Given the description of an element on the screen output the (x, y) to click on. 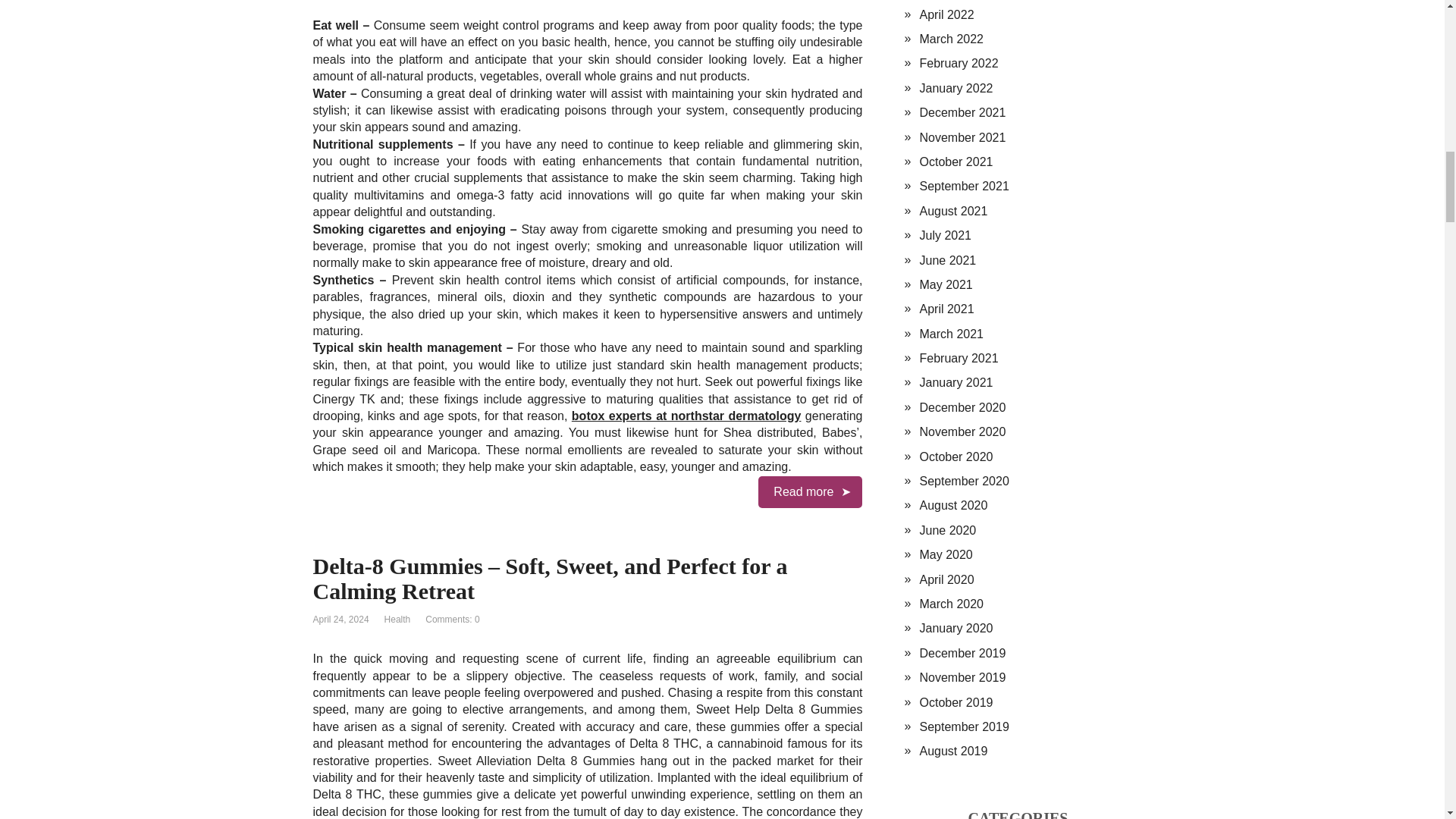
Comments: 0 (452, 619)
Read more (809, 491)
botox experts at northstar dermatology (687, 415)
Health (397, 619)
